Given the description of an element on the screen output the (x, y) to click on. 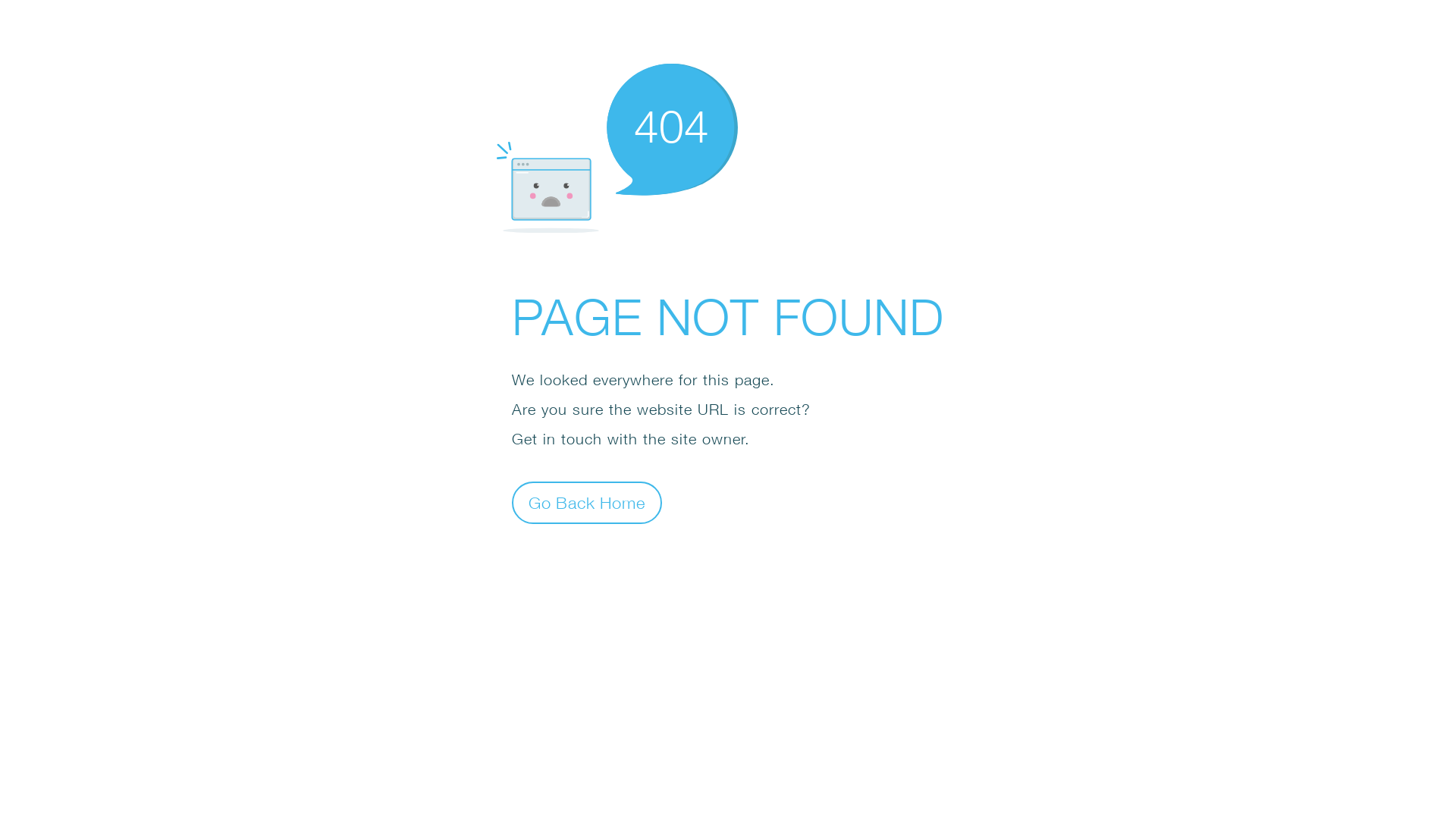
Go Back Home Element type: text (586, 502)
